Given the description of an element on the screen output the (x, y) to click on. 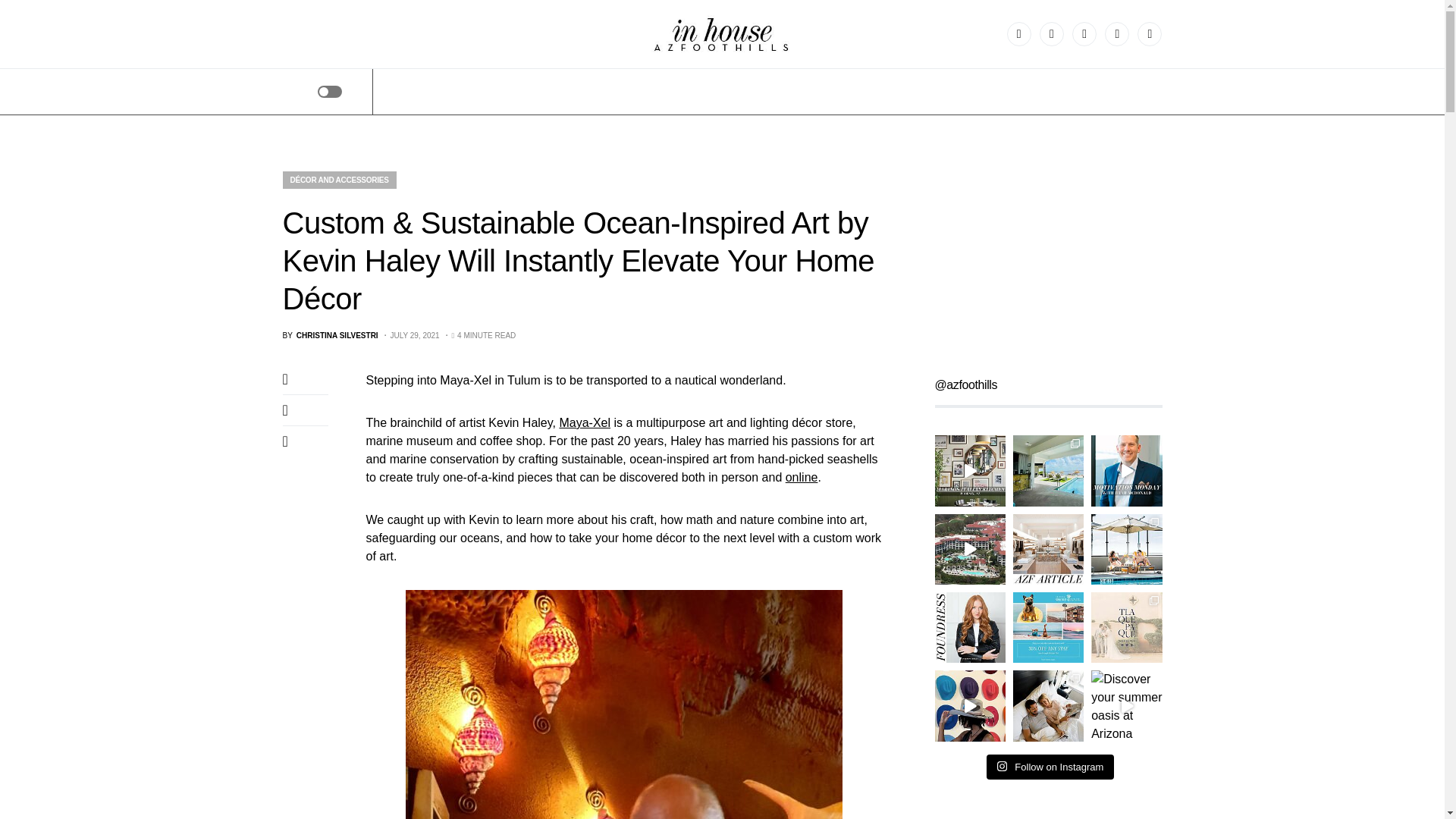
ENEWS (1180, 91)
View all posts by Christina Silvestri (329, 335)
REAL ESTATE (1101, 91)
PRIVATE CLUBS (1003, 91)
AZFOOTHILLS.COM (458, 91)
IN HOUSE NEWS (731, 91)
